Given the description of an element on the screen output the (x, y) to click on. 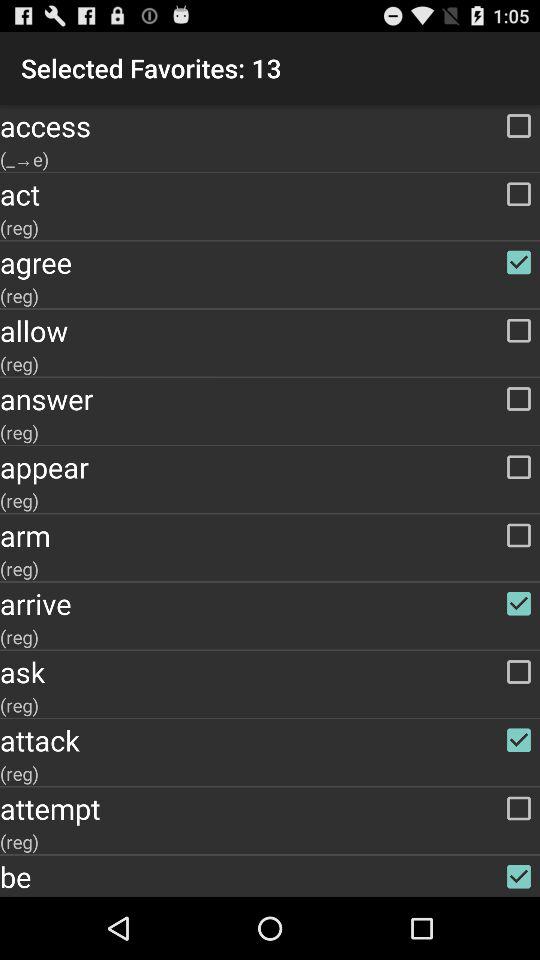
select item below the (reg)  icon (270, 808)
